Given the description of an element on the screen output the (x, y) to click on. 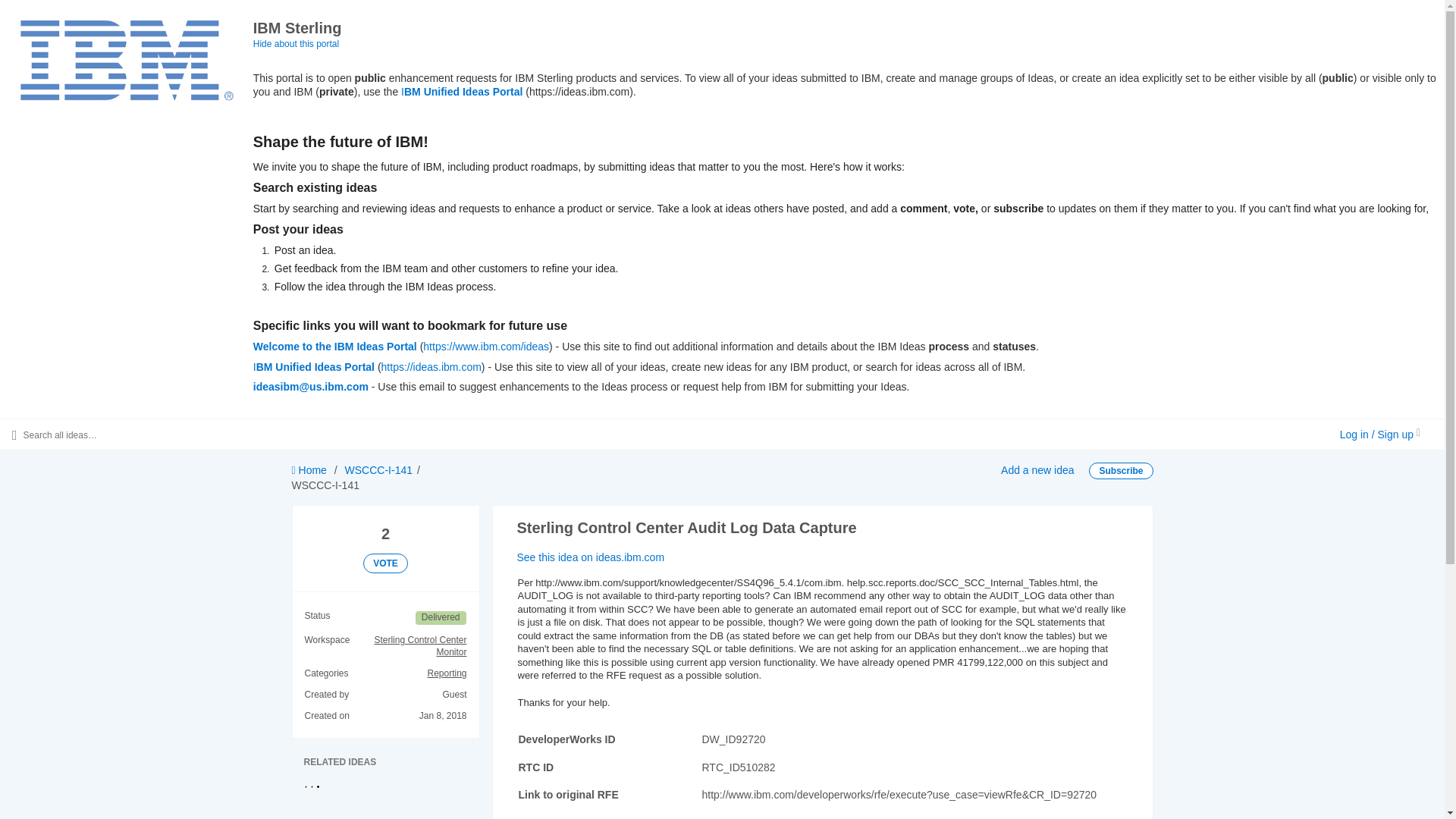
Add a new idea (1037, 469)
Subscribe (1121, 470)
Sterling Control Center Monitor (408, 646)
WSCCC-I-141 (378, 469)
VOTE (385, 563)
Hide about this portal (296, 43)
IBM Unified Ideas Portal (461, 91)
Delivered (439, 617)
Welcome to the IBM Ideas Portal (334, 346)
IBM Unified Ideas Portal (313, 367)
Reporting (445, 674)
Home (310, 469)
See this idea on ideas.ibm.com (590, 557)
